Given the description of an element on the screen output the (x, y) to click on. 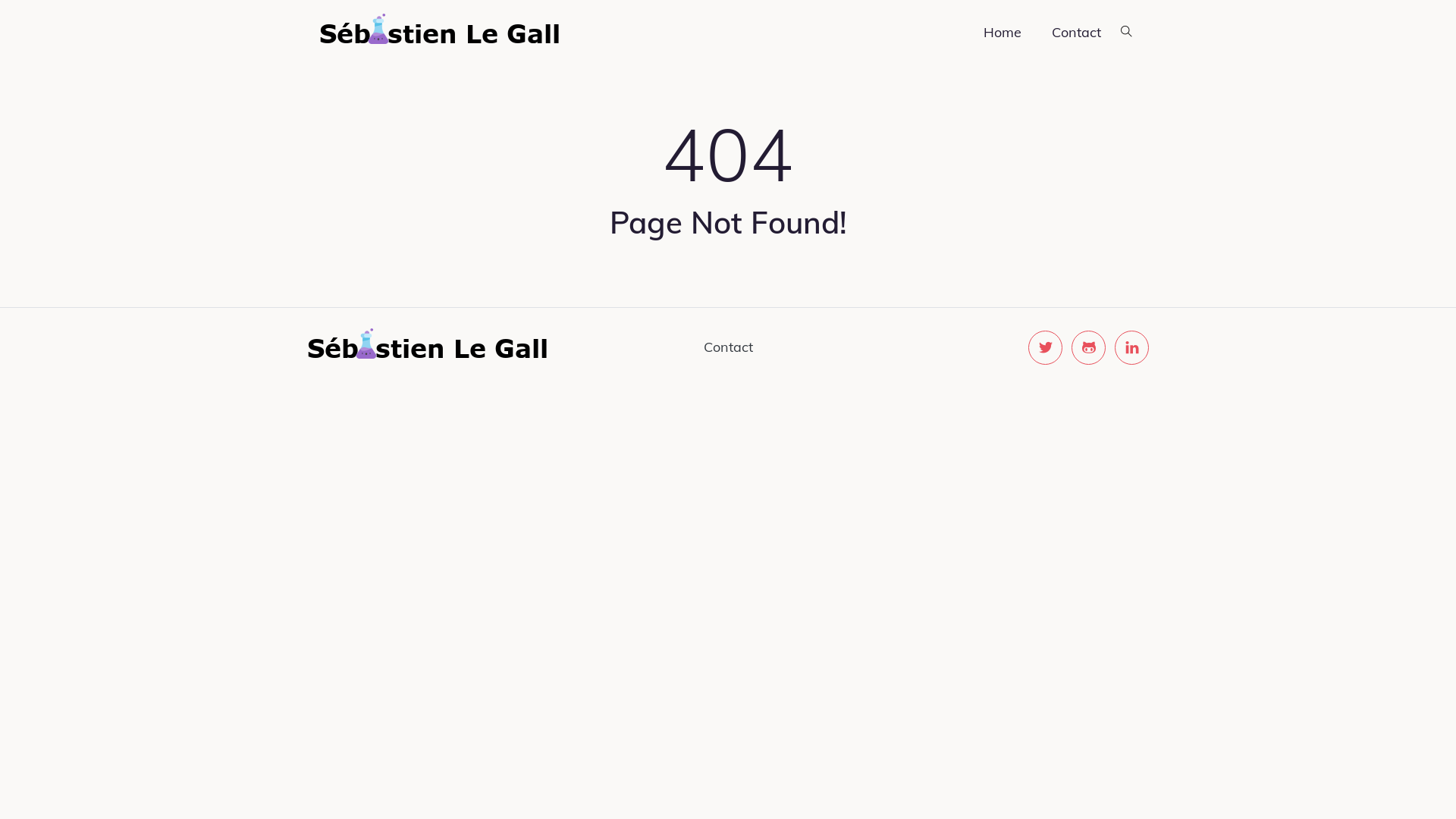
Contact Element type: text (728, 347)
Contact Element type: text (1076, 32)
Home Element type: text (1002, 32)
